Given the description of an element on the screen output the (x, y) to click on. 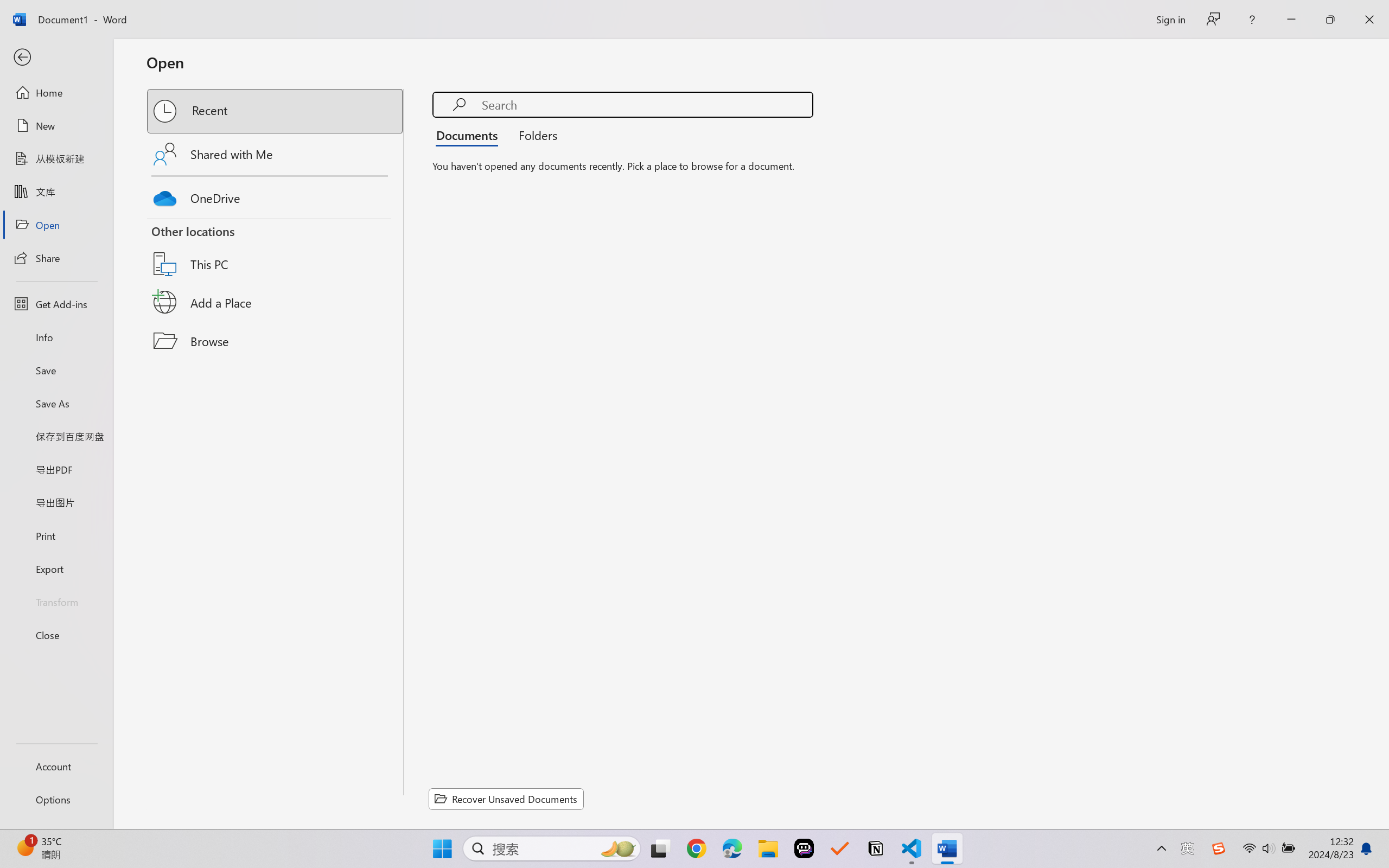
Folders (534, 134)
Back (56, 57)
Shared with Me (275, 153)
Info (56, 337)
Browse (275, 340)
